Given the description of an element on the screen output the (x, y) to click on. 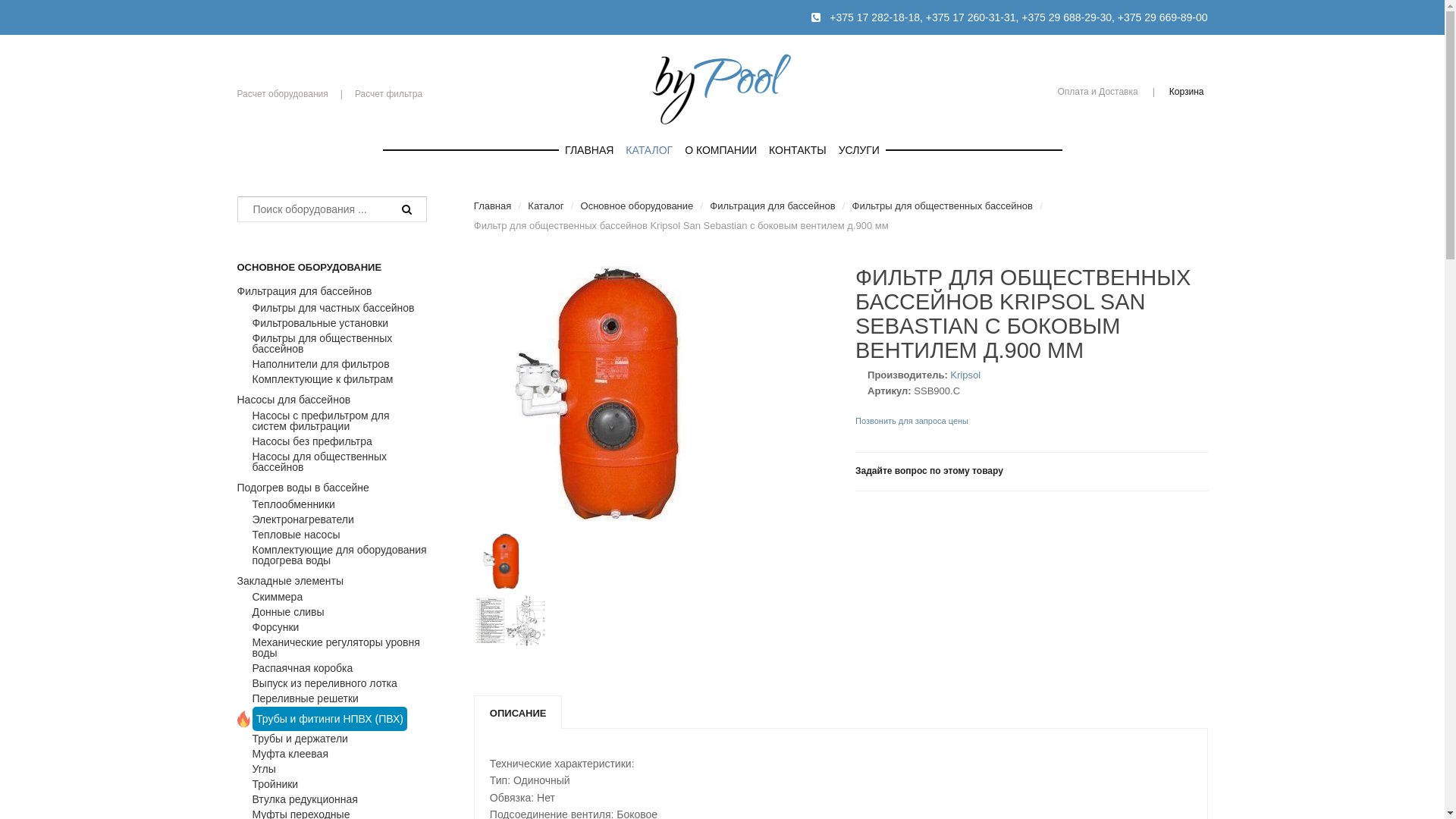
Kripsol Element type: text (965, 374)
+375 29 688-29-30 Element type: text (1066, 17)
+375 17 260-31-31 Element type: text (970, 17)
+375 17 282-18-18 Element type: text (874, 17)
+375 29 669-89-00 Element type: text (1162, 17)
